Given the description of an element on the screen output the (x, y) to click on. 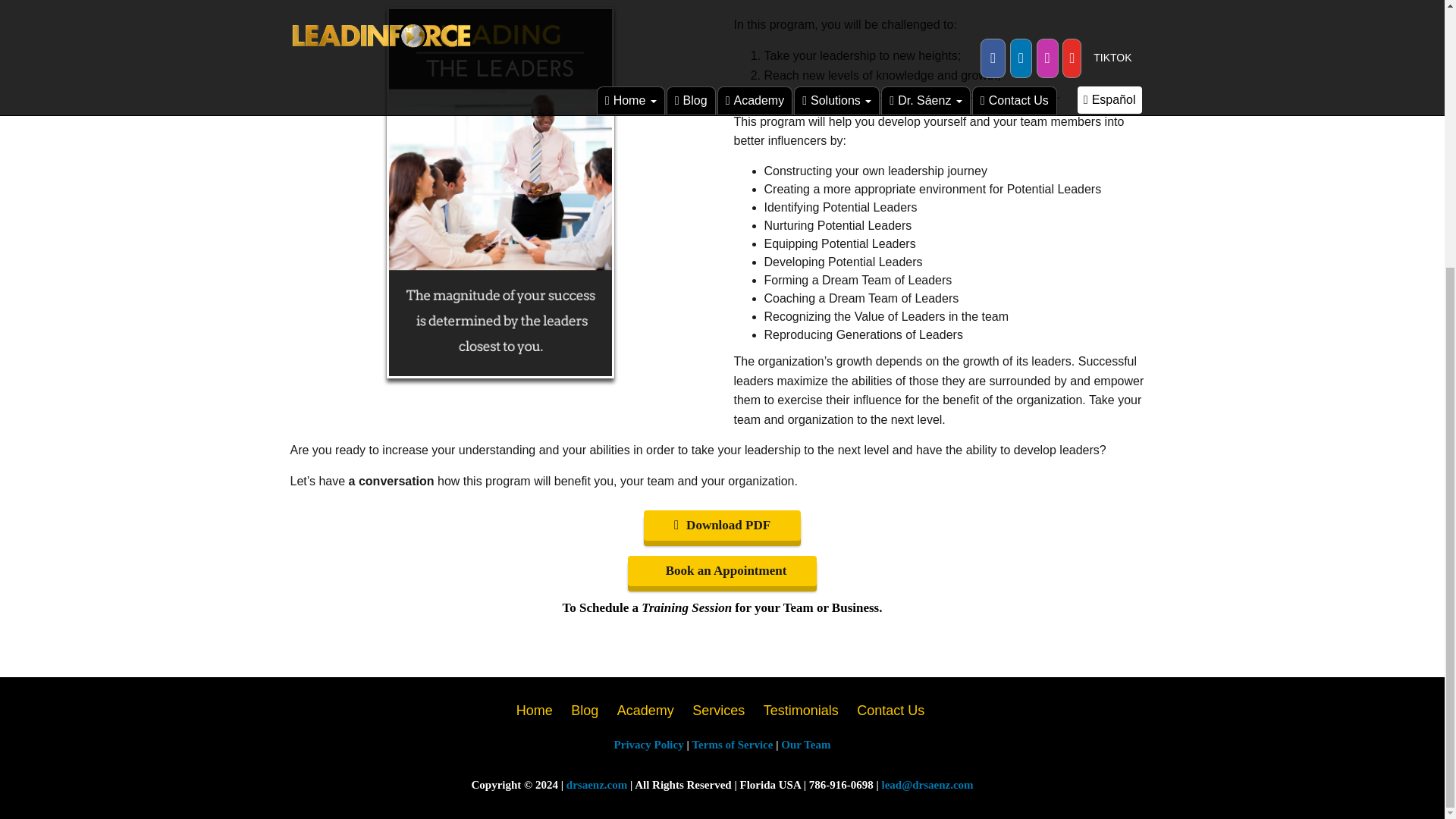
Academy (645, 710)
Testimonials (801, 710)
Blog (584, 710)
Services (718, 710)
Download PDF (721, 525)
Book an Appointment (721, 571)
Home (534, 710)
Contact Us (890, 710)
